Given the description of an element on the screen output the (x, y) to click on. 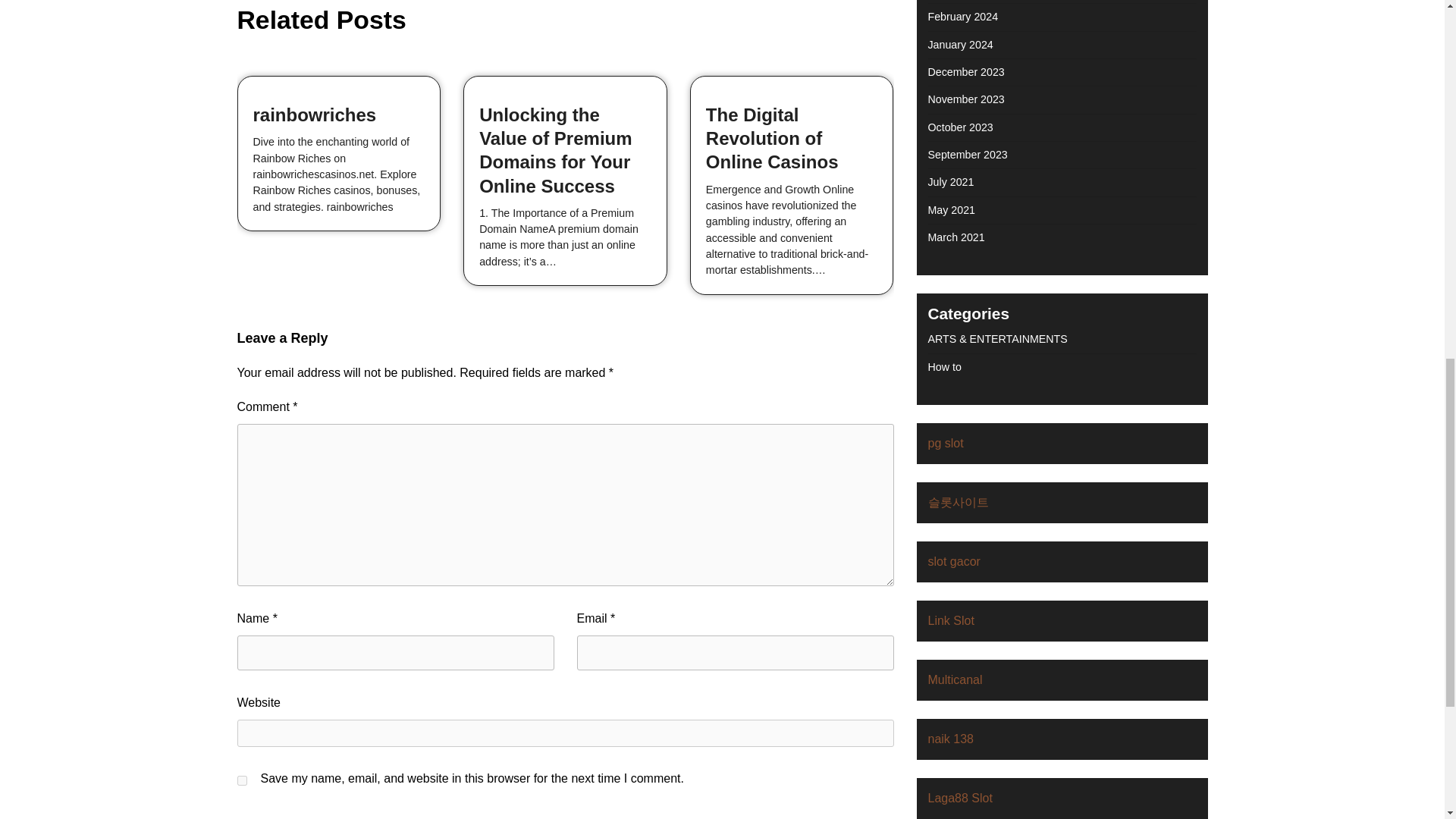
rainbowriches (315, 114)
yes (240, 780)
The Digital Revolution of Online Casinos (772, 137)
